Given the description of an element on the screen output the (x, y) to click on. 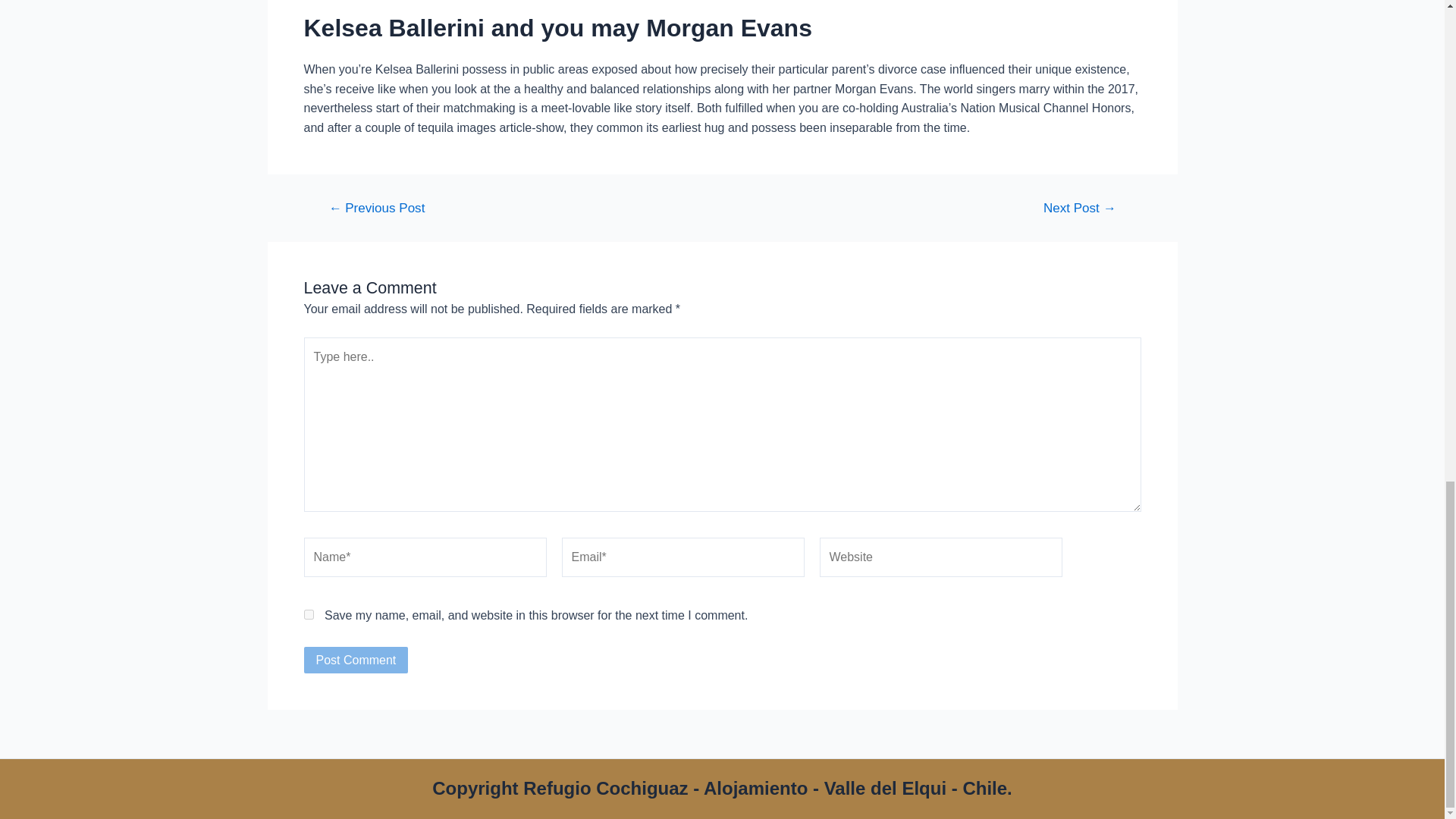
yes (307, 614)
Post Comment (354, 660)
Post Comment (354, 660)
